Given the description of an element on the screen output the (x, y) to click on. 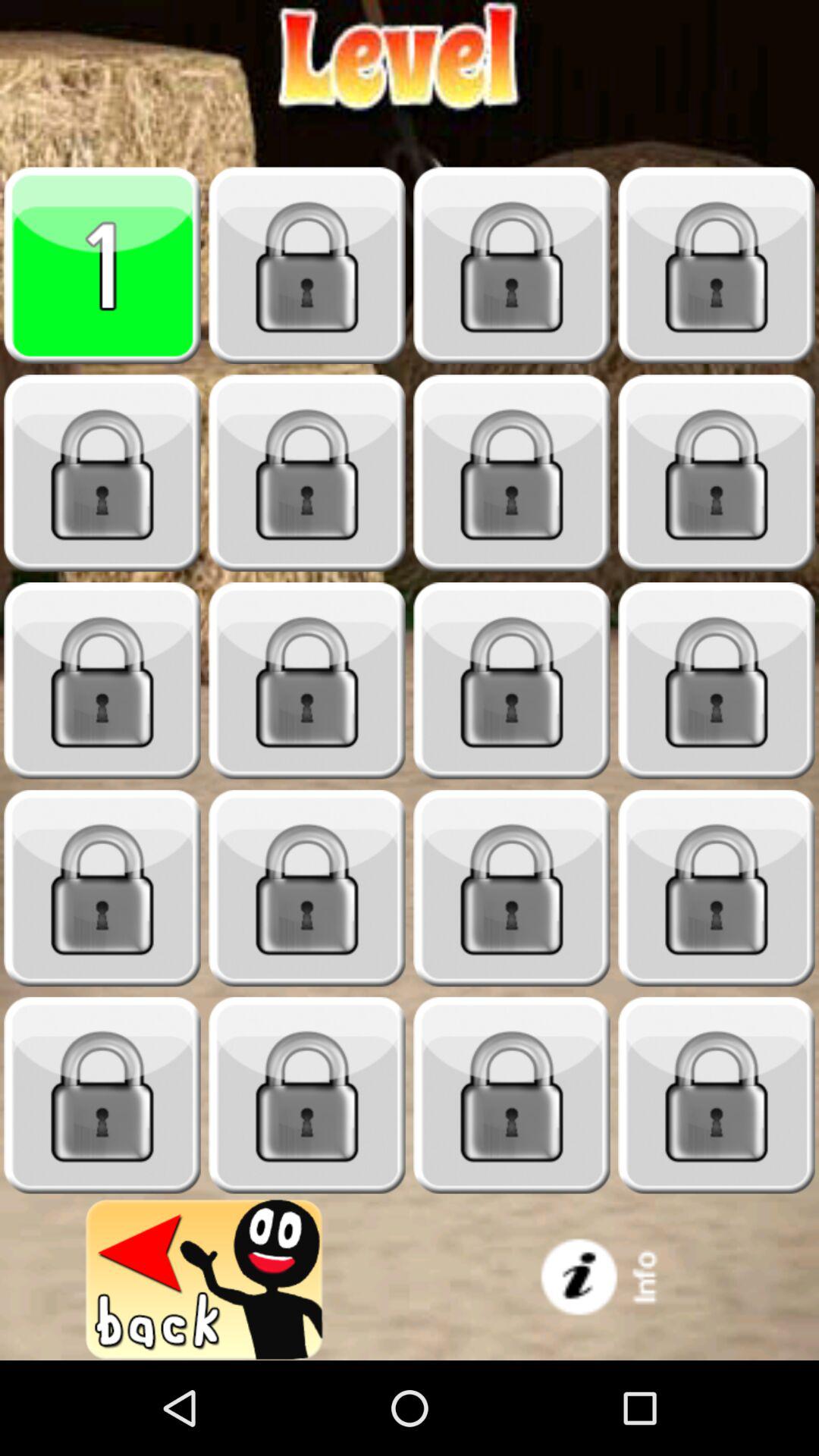
see what is behind the lock icon (102, 473)
